Given the description of an element on the screen output the (x, y) to click on. 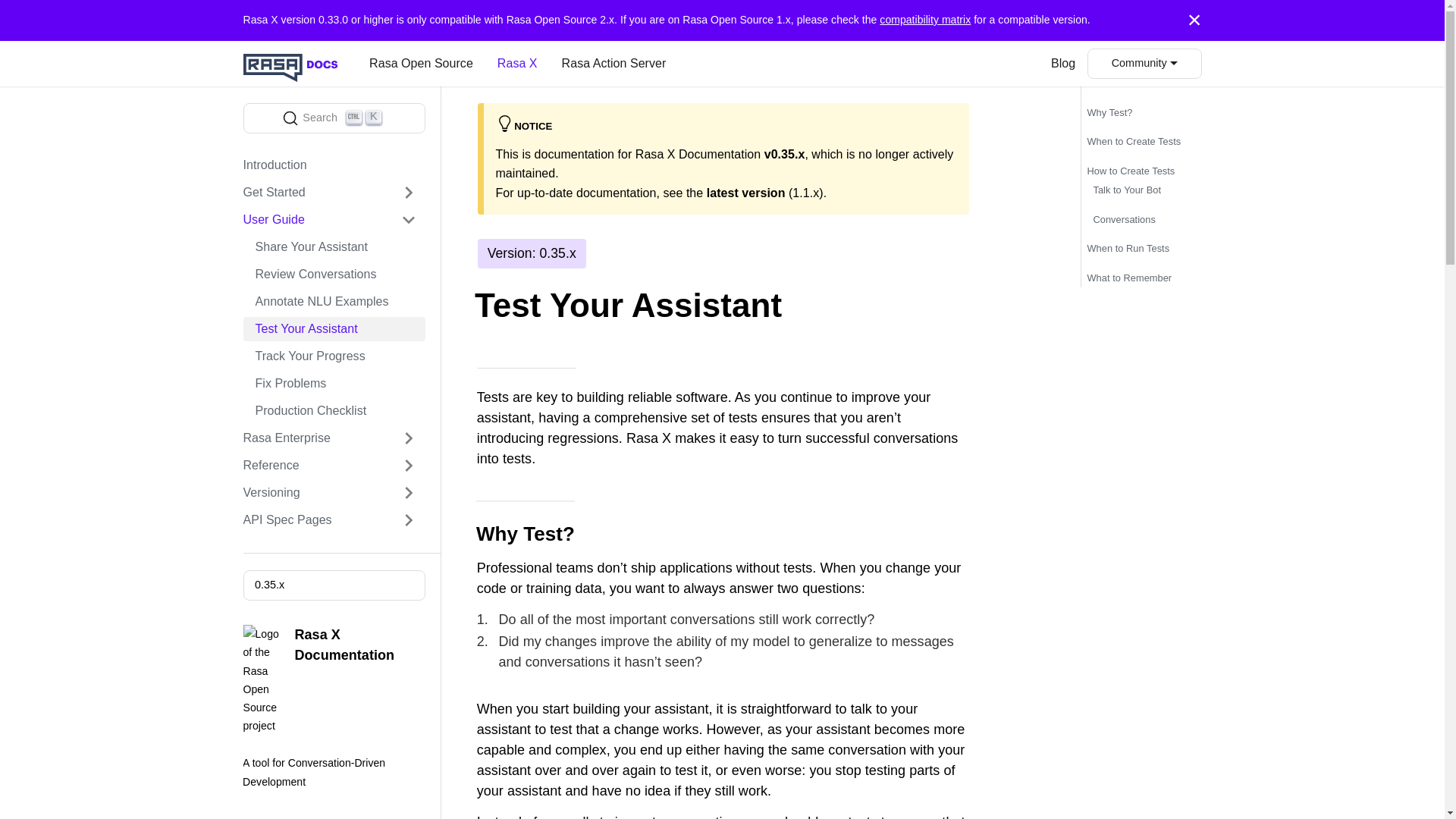
Community (1144, 63)
Rasa Open Source (420, 63)
User Guide (327, 219)
Production Checklist (334, 410)
Get Started (327, 192)
Rasa Enterprise (327, 437)
Blog (1063, 63)
compatibility matrix (925, 19)
Share Your Assistant (334, 247)
Rasa Action Server (334, 118)
Introduction (614, 63)
Versioning (327, 165)
Fix Problems (327, 492)
Track Your Progress (334, 383)
